Given the description of an element on the screen output the (x, y) to click on. 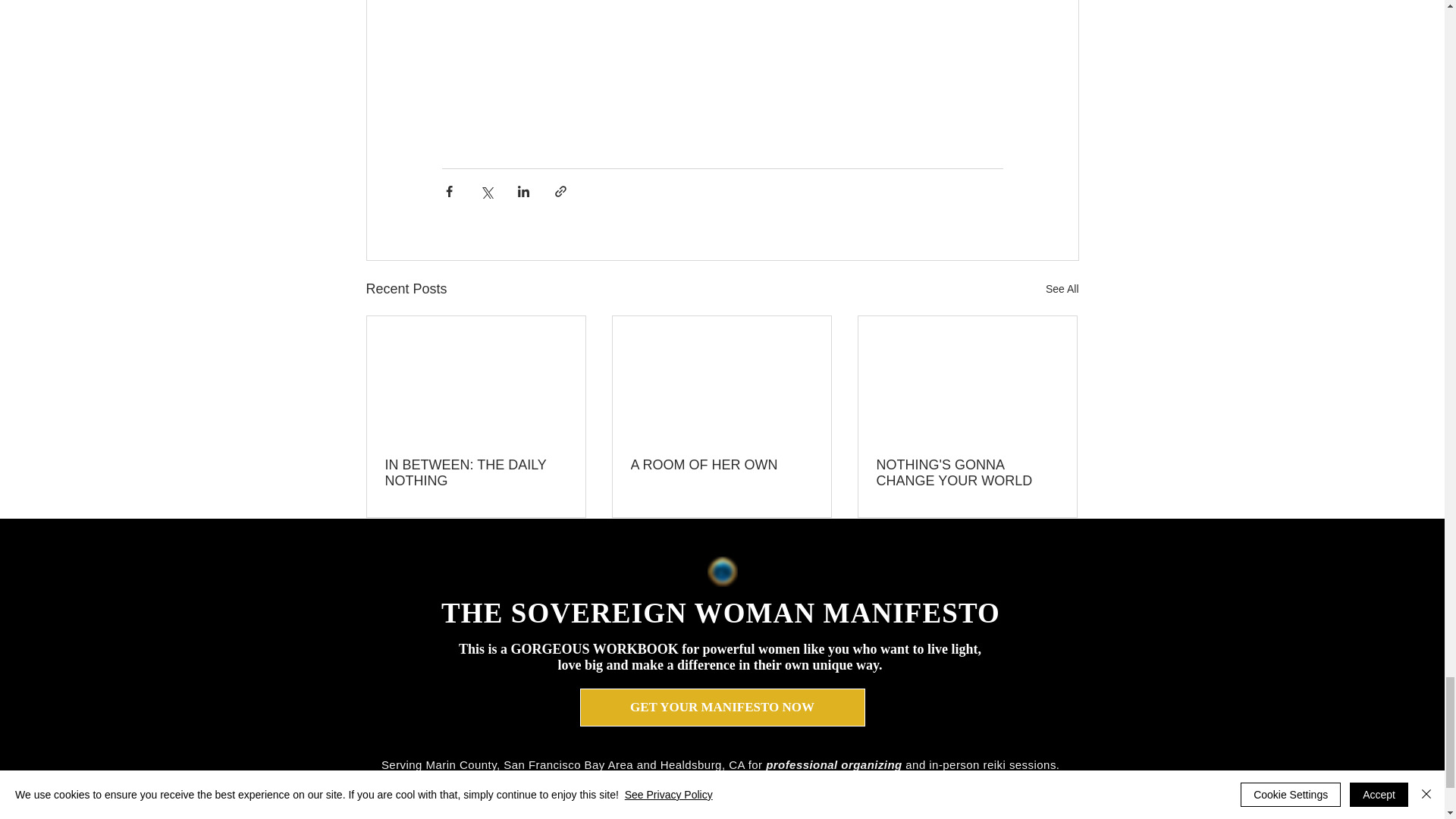
In Her Image Photography (866, 807)
Tazi Designs. (1053, 807)
IN BETWEEN: THE DAILY NOTHING (476, 472)
A ROOM OF HER OWN (721, 465)
NOTHING'S GONNA CHANGE YOUR WORLD (967, 472)
professional organizing (833, 764)
See All (1061, 289)
GET YOUR MANIFESTO NOW (721, 707)
